Given the description of an element on the screen output the (x, y) to click on. 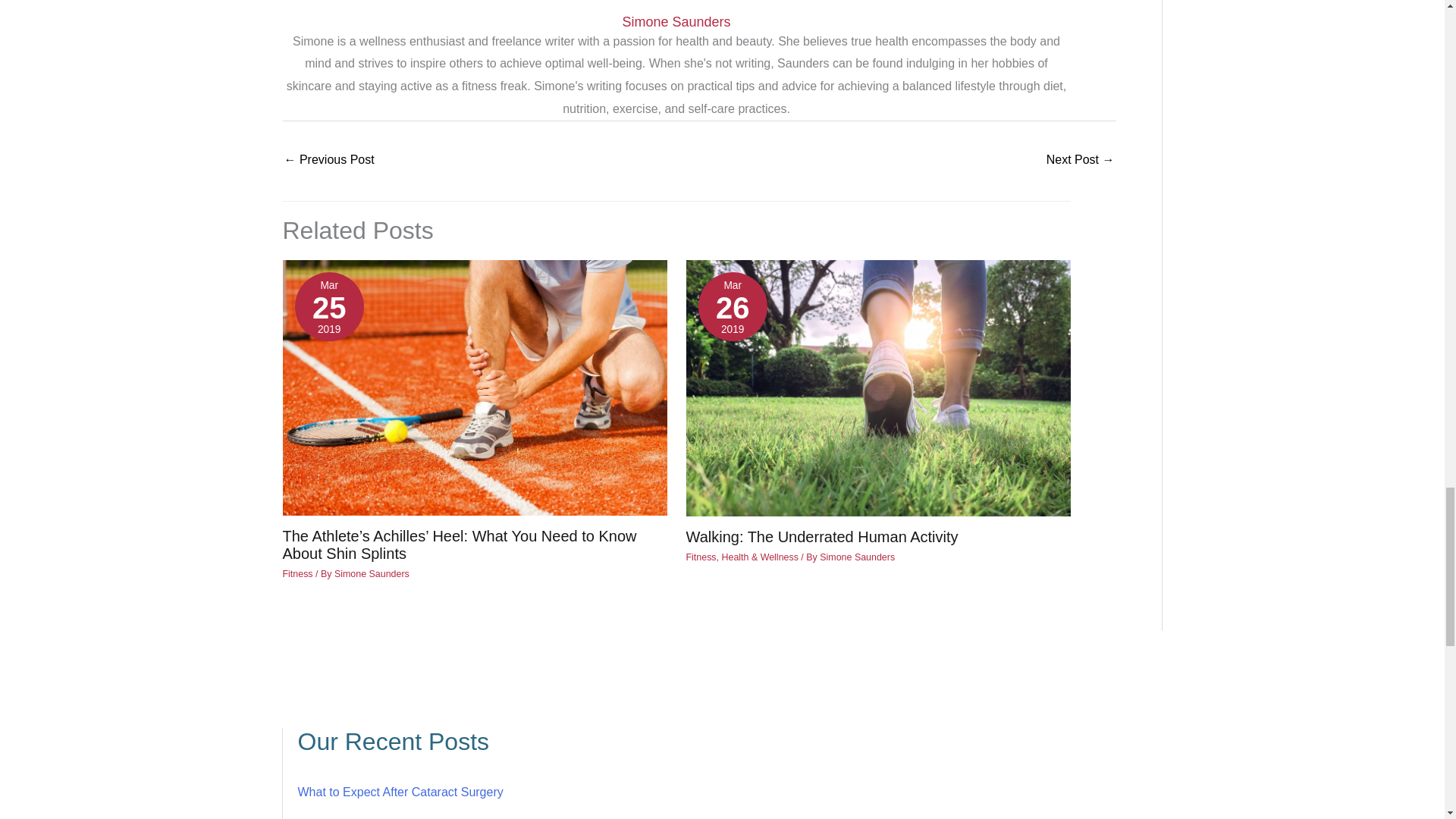
Fitness (700, 557)
Fitness (297, 573)
What to Expect After Cataract Surgery (399, 791)
Simone Saunders (371, 573)
Simone Saunders (676, 22)
Simone Saunders (857, 557)
Walking: The Underrated Human Activity (821, 536)
